Given the description of an element on the screen output the (x, y) to click on. 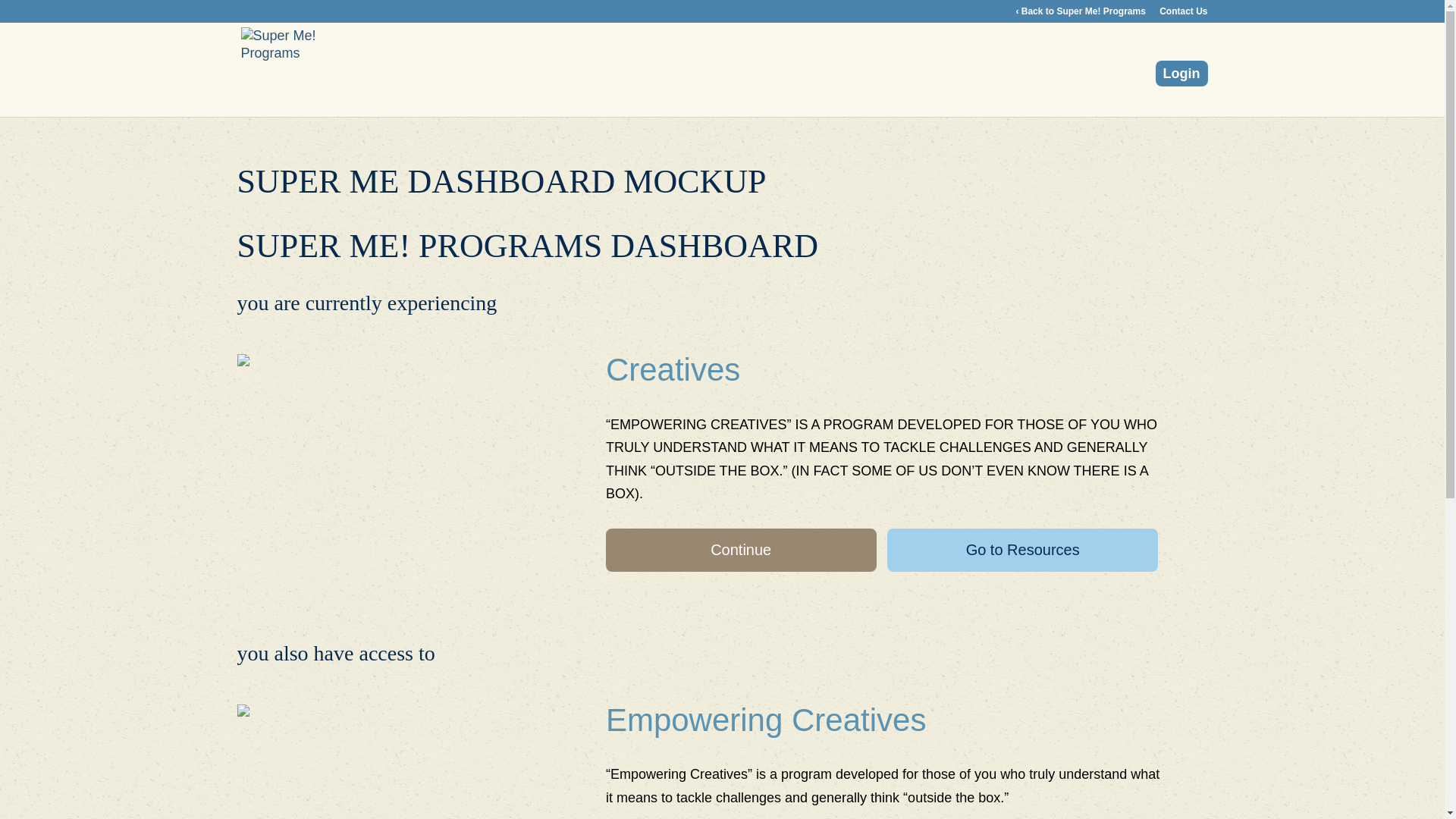
Login (1182, 73)
Go to Resources (1021, 549)
Contact Us (1182, 14)
Continue (740, 549)
